Given the description of an element on the screen output the (x, y) to click on. 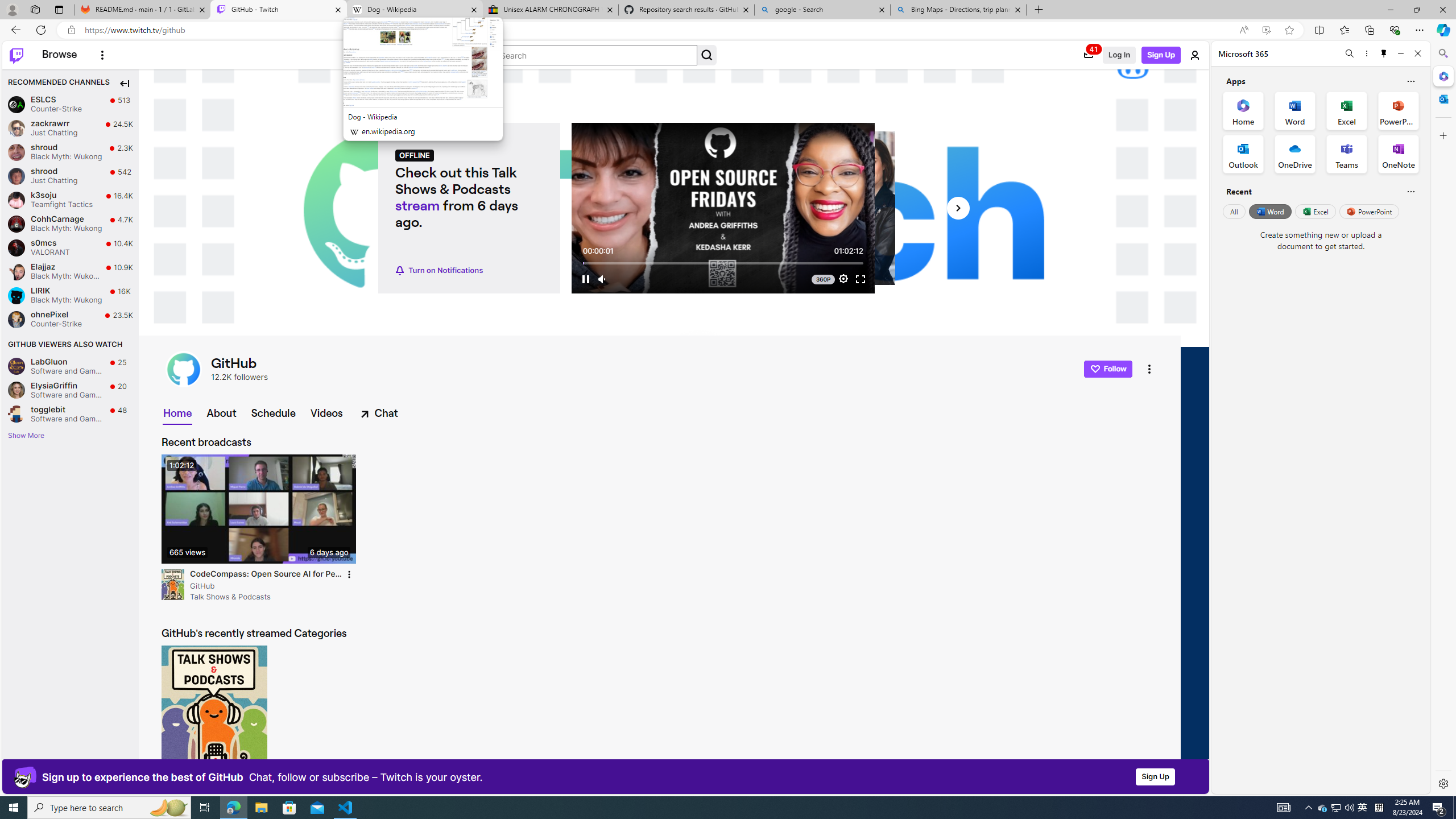
Prime offers (1088, 54)
Class: ScSvg-sc-mx5axi-2 iAAiAK (16, 54)
k3soju k3soju Teamfight Tactics Live 16.4K viewers (70, 199)
shrood (15, 176)
Chat (377, 413)
s0mcs s0mcs VALORANT Live 10.4K viewers (70, 247)
Fullscreen (f) (860, 278)
Word (1269, 210)
Talk Shows & Podcasts cover image (214, 715)
shroud (15, 152)
Home Office App (1243, 110)
shrood shrood Just Chatting Live 542 viewers (70, 175)
GitHub - Twitch (277, 9)
